Given the description of an element on the screen output the (x, y) to click on. 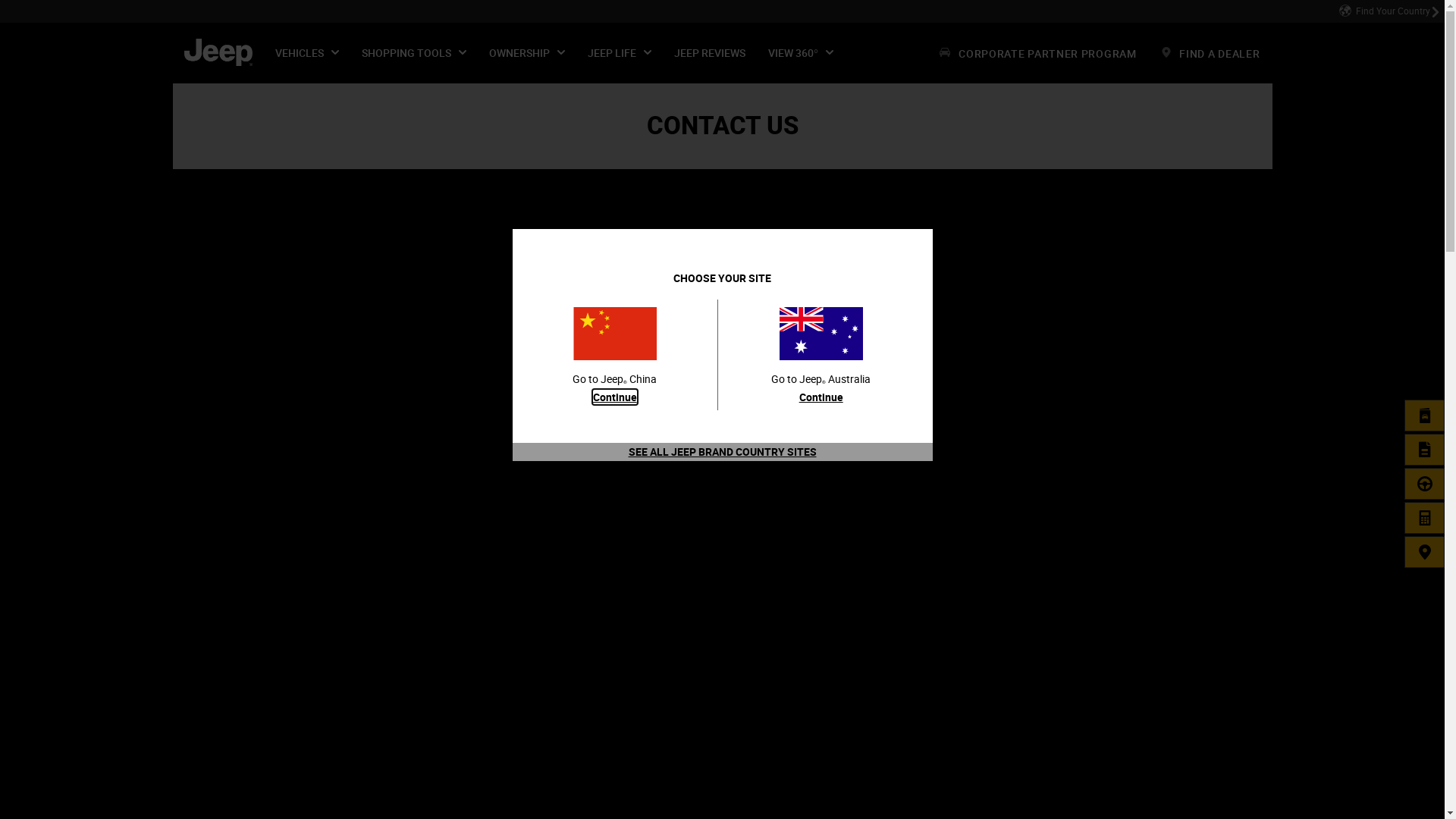
JEEP LIFE Element type: text (619, 52)
PRICING Element type: text (1424, 517)
FIND A DEALER Element type: text (1210, 52)
CORPORATE PARTNER PROGRAM Element type: text (1037, 52)
FIND A DEALER Element type: text (1424, 551)
Find Your Country
(Open in a new window) Element type: text (1389, 10)
Continue Element type: text (821, 396)
BROCHURE Element type: text (1424, 415)
Continue Element type: text (615, 396)
REQUEST A QUOTE Element type: text (1424, 449)
OWNERSHIP Element type: text (526, 52)
SEE ALL JEEP BRAND COUNTRY SITES Element type: text (721, 451)
VEHICLES Element type: text (306, 52)
TEST DRIVE Element type: text (1424, 483)
SHOPPING TOOLS Element type: text (413, 52)
JEEP REVIEWS Element type: text (709, 52)
